Given the description of an element on the screen output the (x, y) to click on. 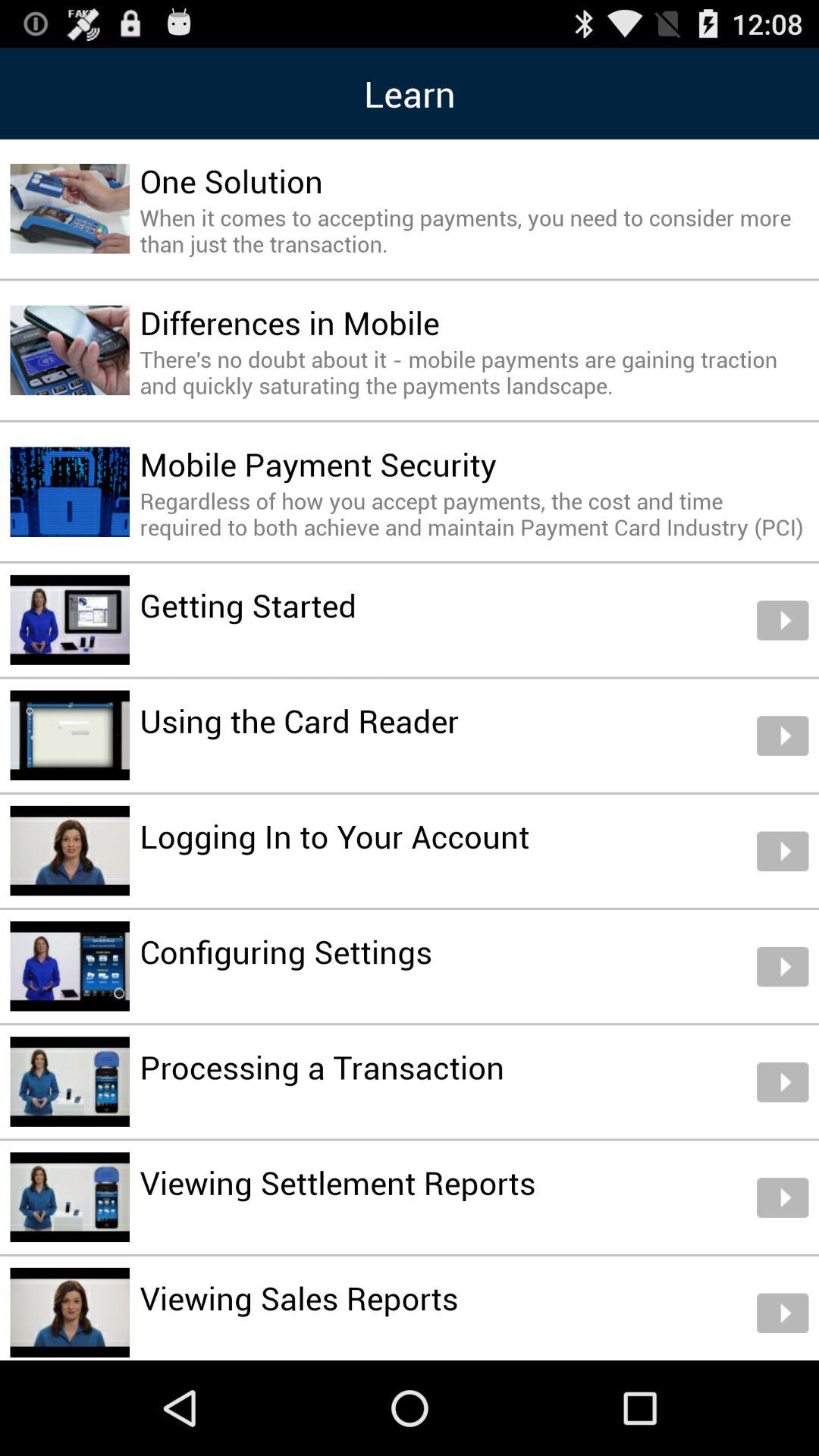
choose the there s no item (473, 372)
